Given the description of an element on the screen output the (x, y) to click on. 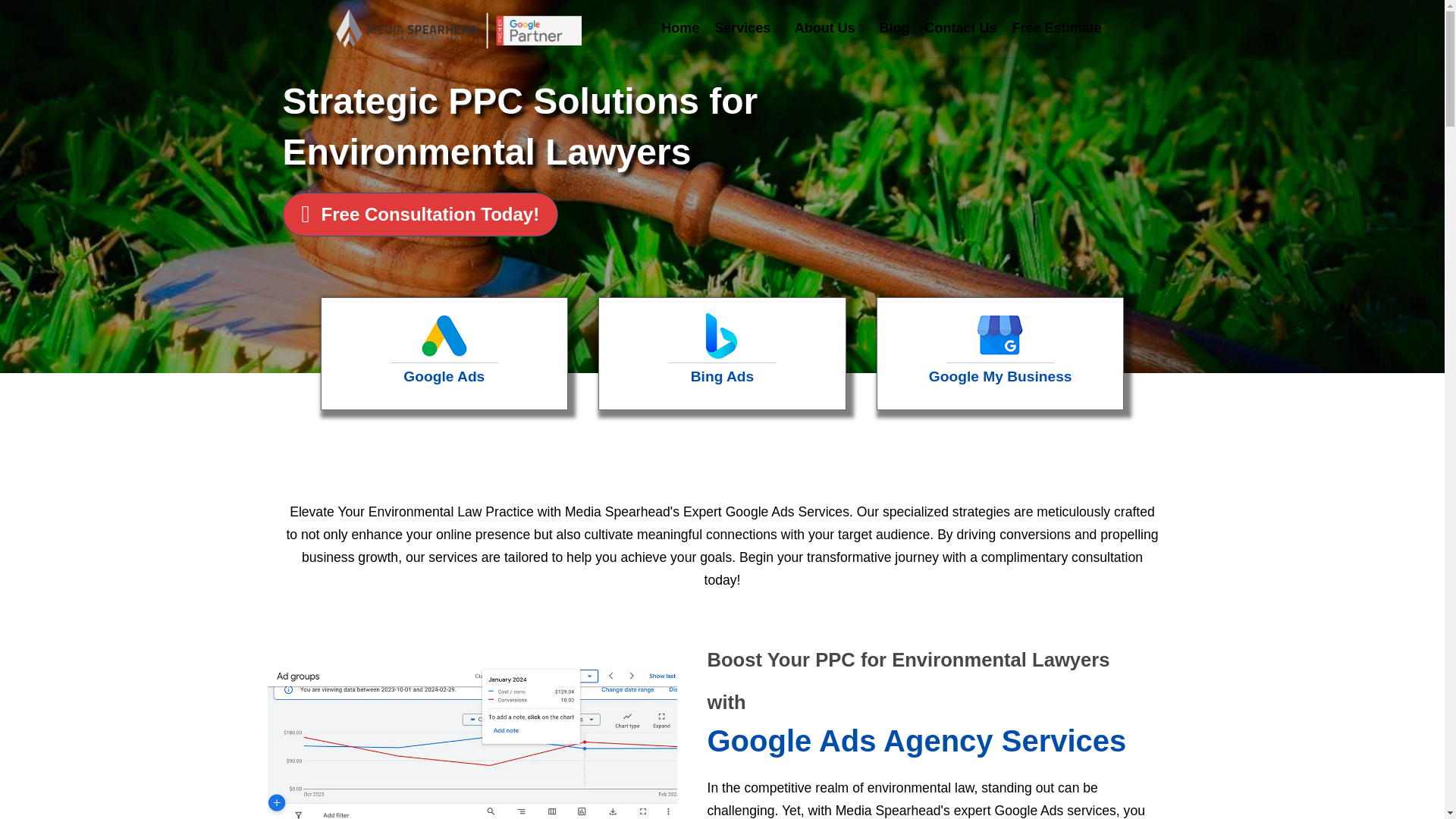
Free Estimate (1056, 28)
Blog (893, 28)
About Us (829, 28)
Services (746, 28)
gmb (999, 335)
Contact Us (960, 28)
1-msh-familyppc-campaing (471, 742)
Home (679, 28)
Free Consultation Today! (419, 213)
google ads (444, 335)
bing-png (721, 335)
